Given the description of an element on the screen output the (x, y) to click on. 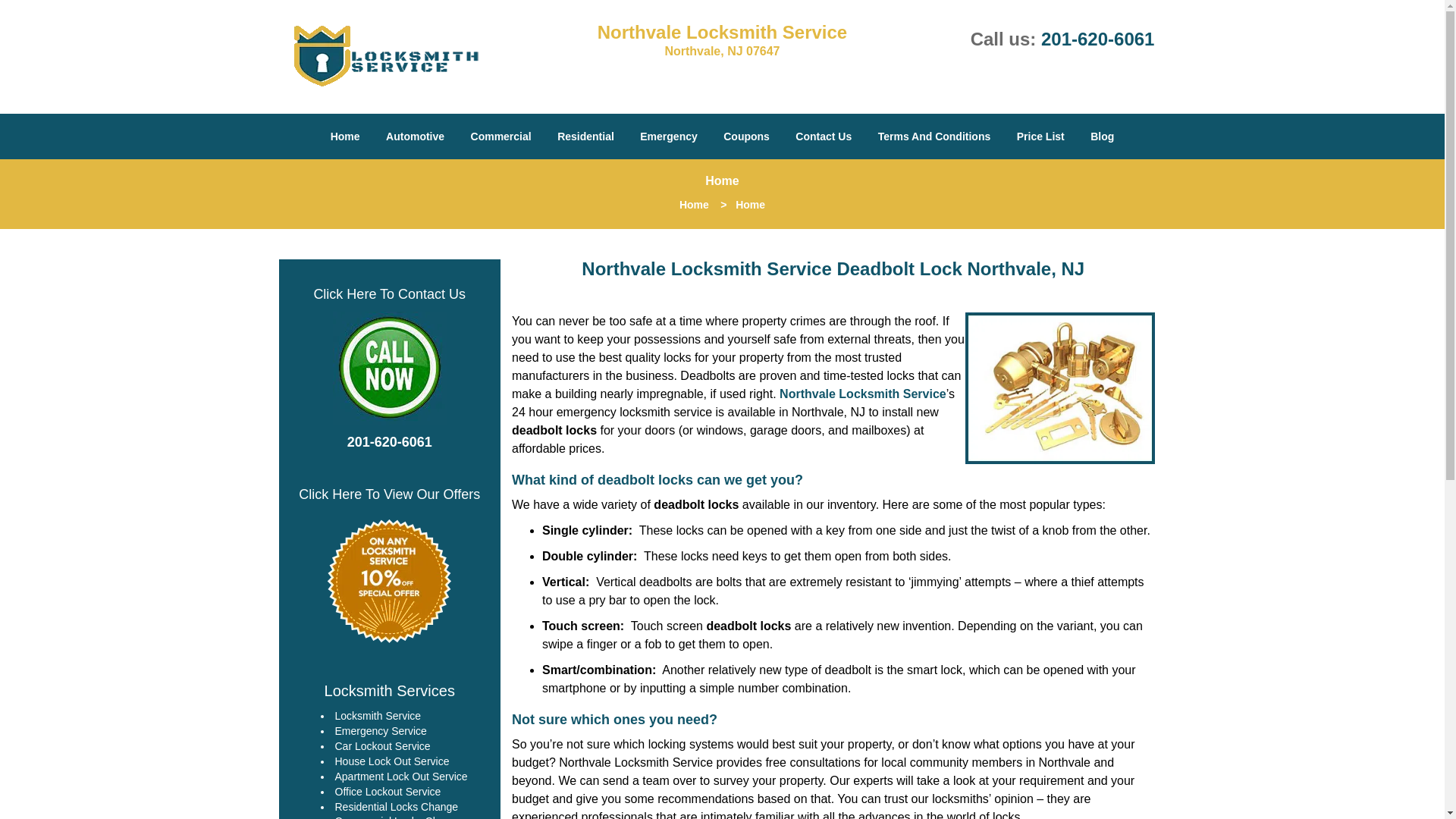
Terms And Conditions (934, 135)
Click Here To View Our Offers (389, 494)
Contact Us (823, 135)
Northvale Locksmith Service (862, 393)
Click Here To Contact Us (389, 294)
201-620-6061 (1097, 38)
Commercial (501, 135)
Emergency (667, 135)
Blog (1101, 135)
Residential (586, 135)
Home (344, 135)
Coupons (745, 135)
Northvale Locksmith Service Northvale, NJ 201-620-6061 (389, 368)
201-620-6061 (389, 442)
Northvale Locksmith Service Northvale, NJ 201-620-6061 (389, 579)
